Given the description of an element on the screen output the (x, y) to click on. 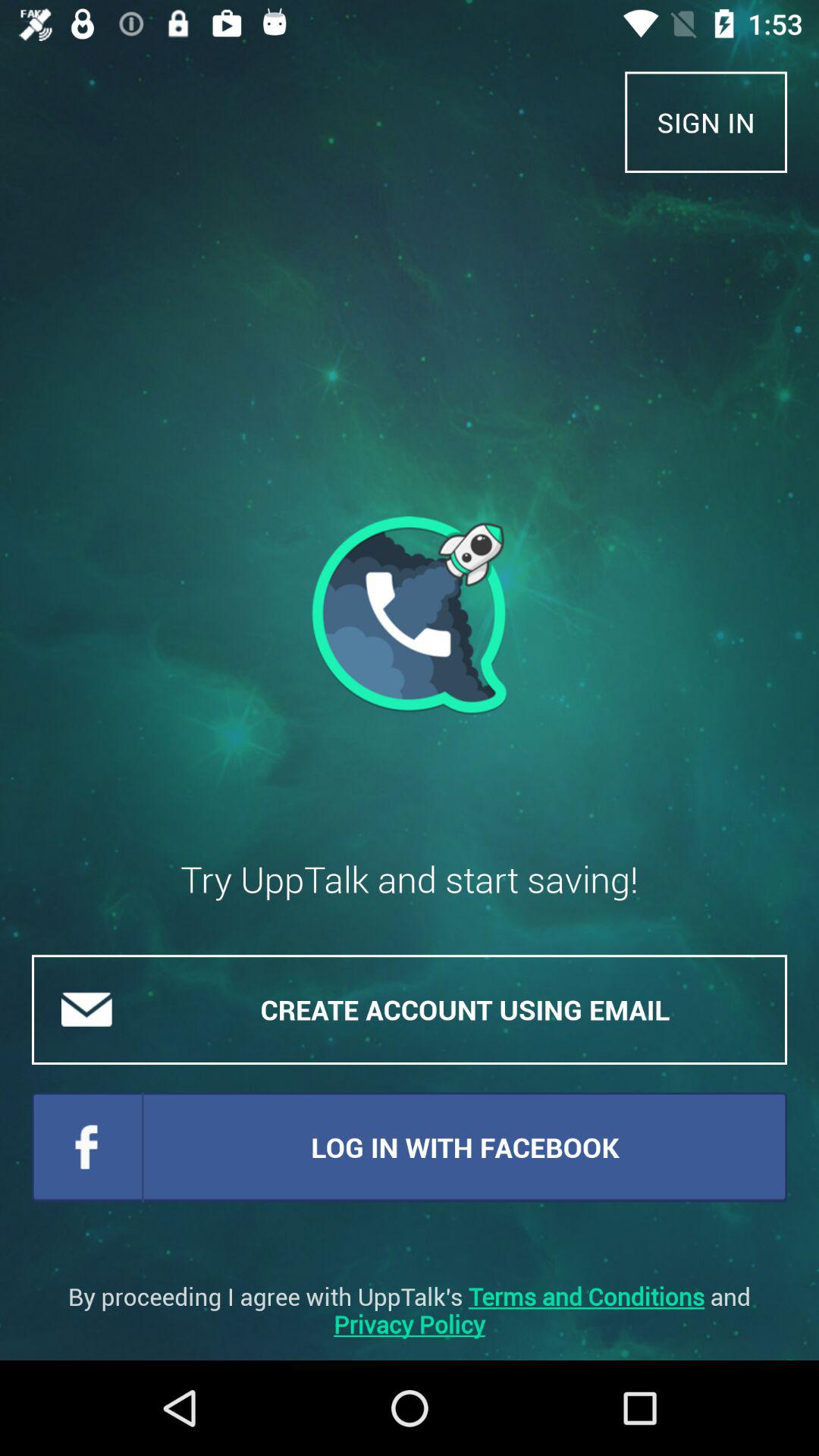
jump to the sign in icon (706, 121)
